Given the description of an element on the screen output the (x, y) to click on. 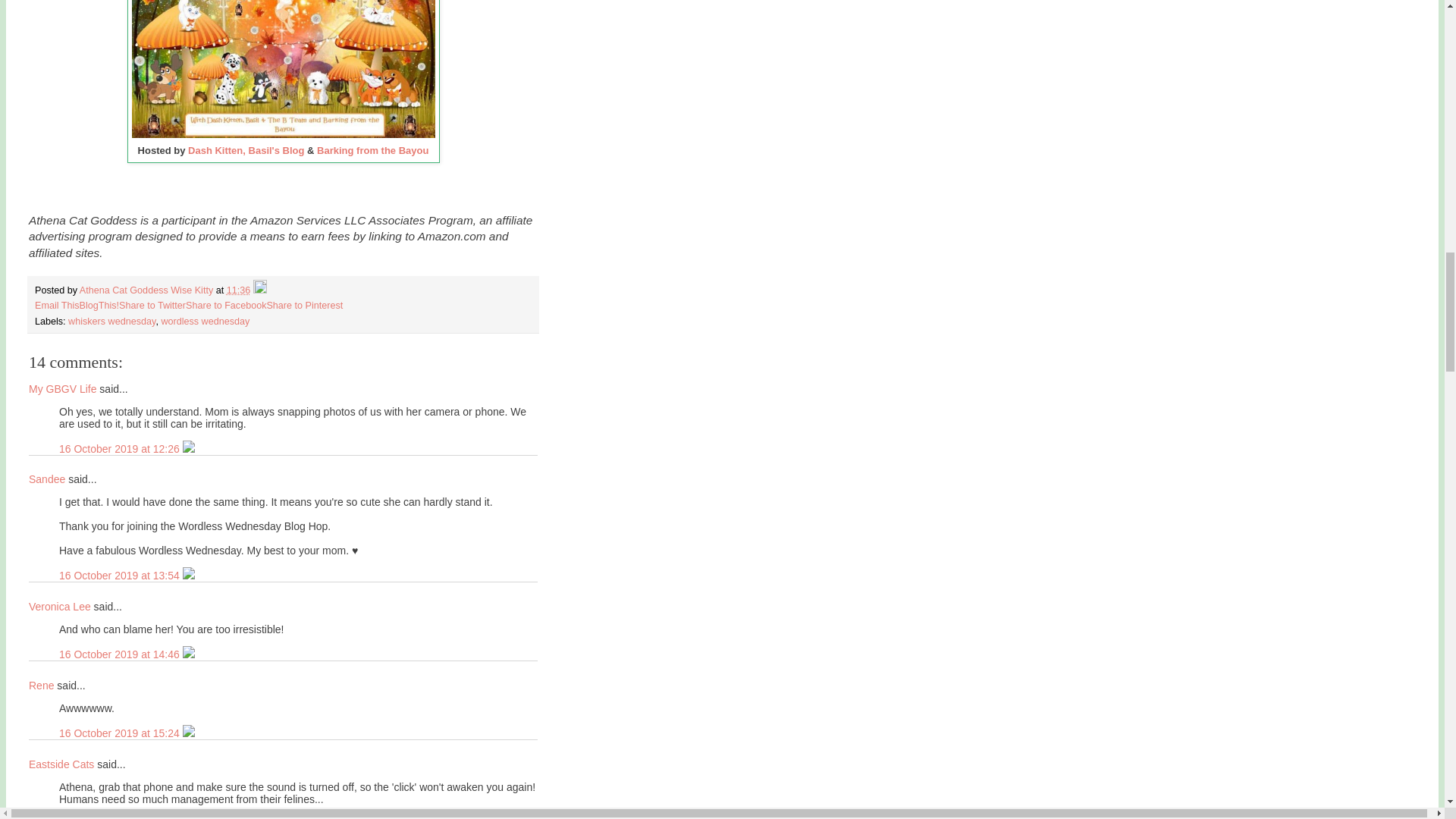
Share to Facebook (226, 305)
11:36 (238, 290)
BlogThis! (99, 305)
Email This (57, 305)
Dash Kitten, (216, 150)
Athena Cat Goddess Wise Kitty (147, 290)
16 October 2019 at 12:26 (121, 449)
comment permalink (121, 449)
BlogThis! (99, 305)
Share to Twitter (152, 305)
Edit Post (259, 290)
Delete Comment (189, 449)
Share to Pinterest (304, 305)
whiskers wednesday (111, 321)
My GBGV Life (62, 388)
